Given the description of an element on the screen output the (x, y) to click on. 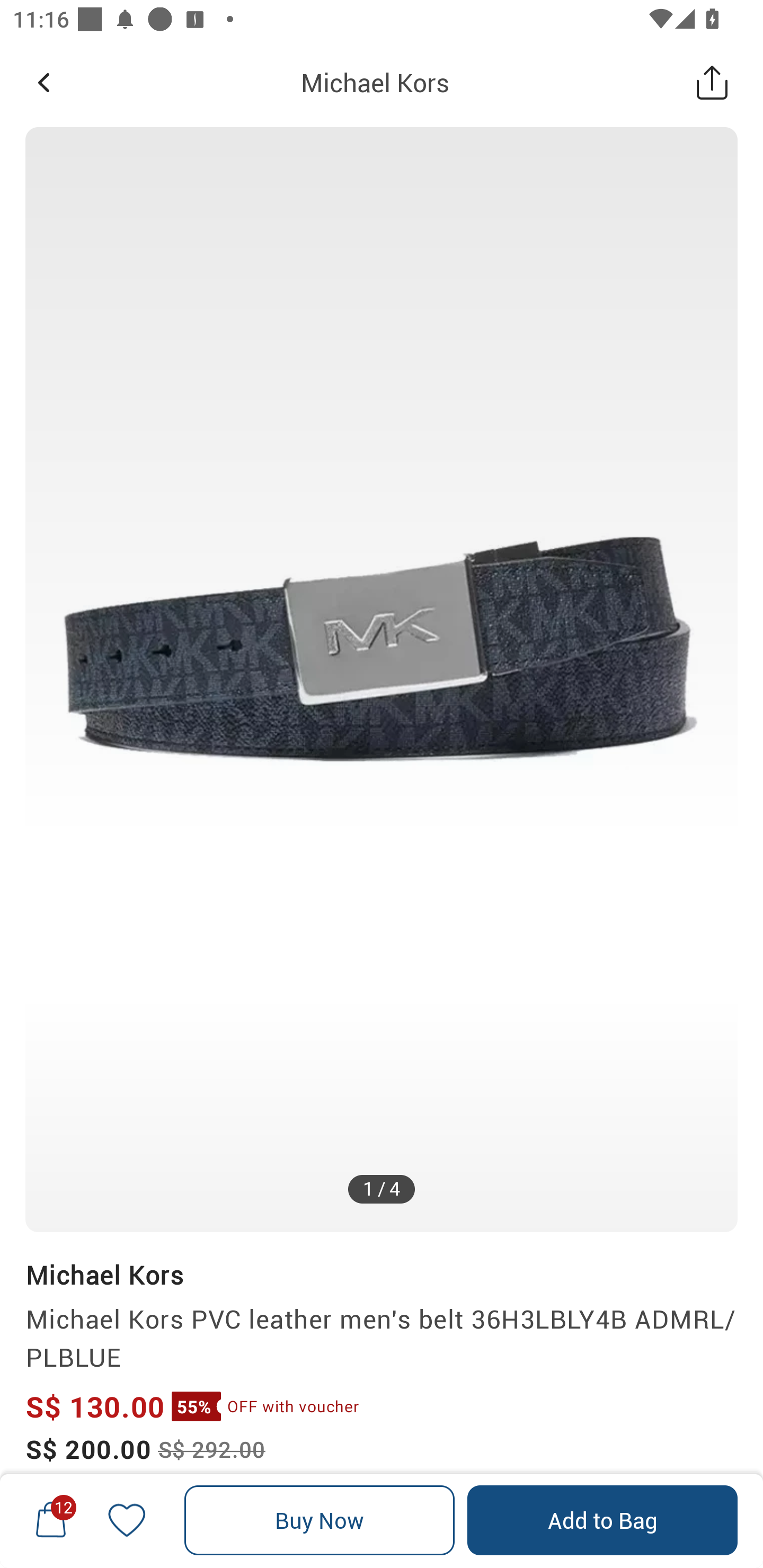
Michael Kors (375, 82)
Share this Product (711, 82)
Michael Kors (104, 1274)
Buy Now (319, 1519)
Add to Bag (601, 1519)
12 (50, 1520)
